Given the description of an element on the screen output the (x, y) to click on. 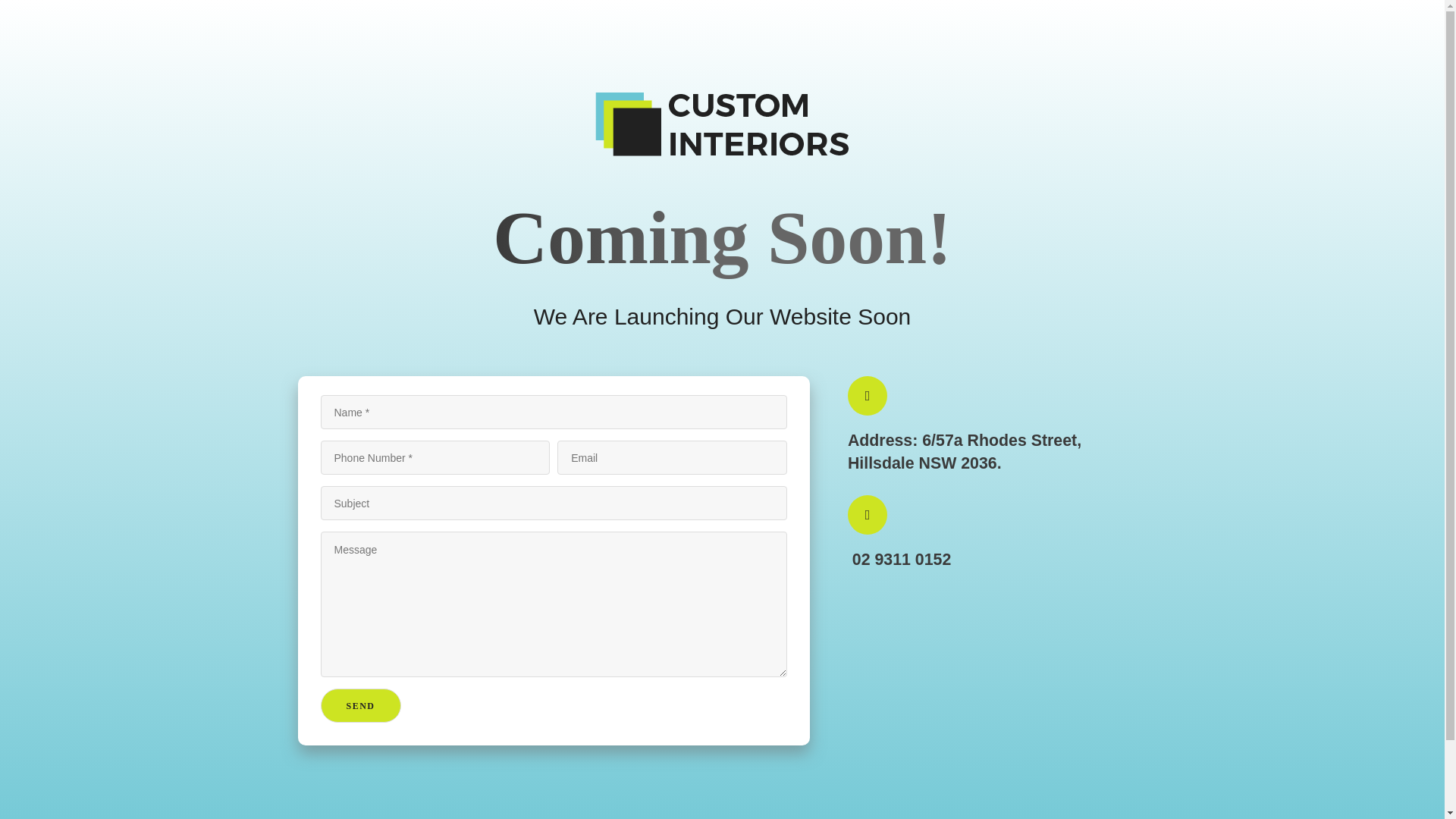
 02 9311 0152 Element type: text (898, 556)
Send Element type: text (360, 705)
